Given the description of an element on the screen output the (x, y) to click on. 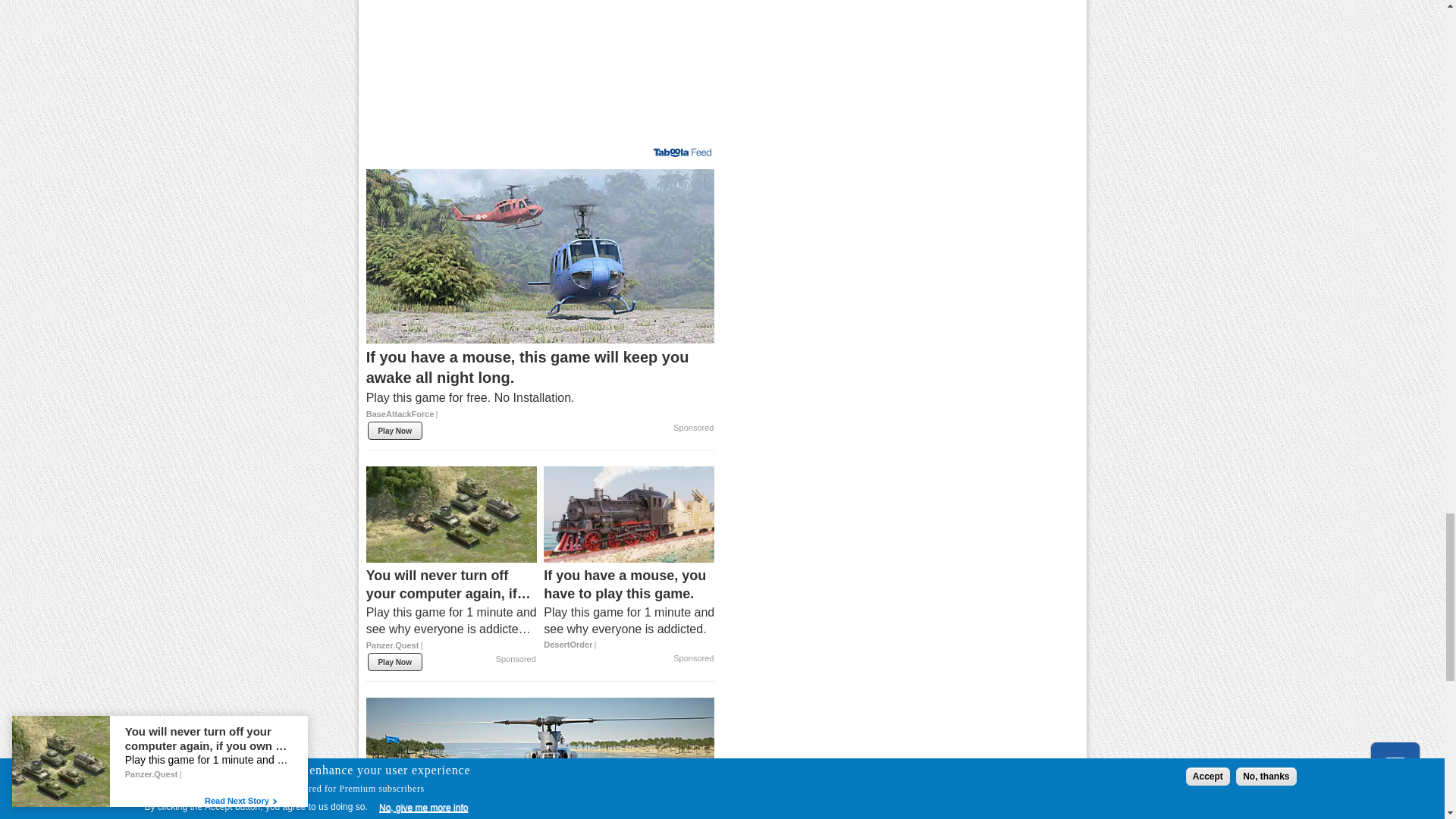
"Description: Play this game for free. No Installation." (540, 397)
Advertisement (539, 69)
